Given the description of an element on the screen output the (x, y) to click on. 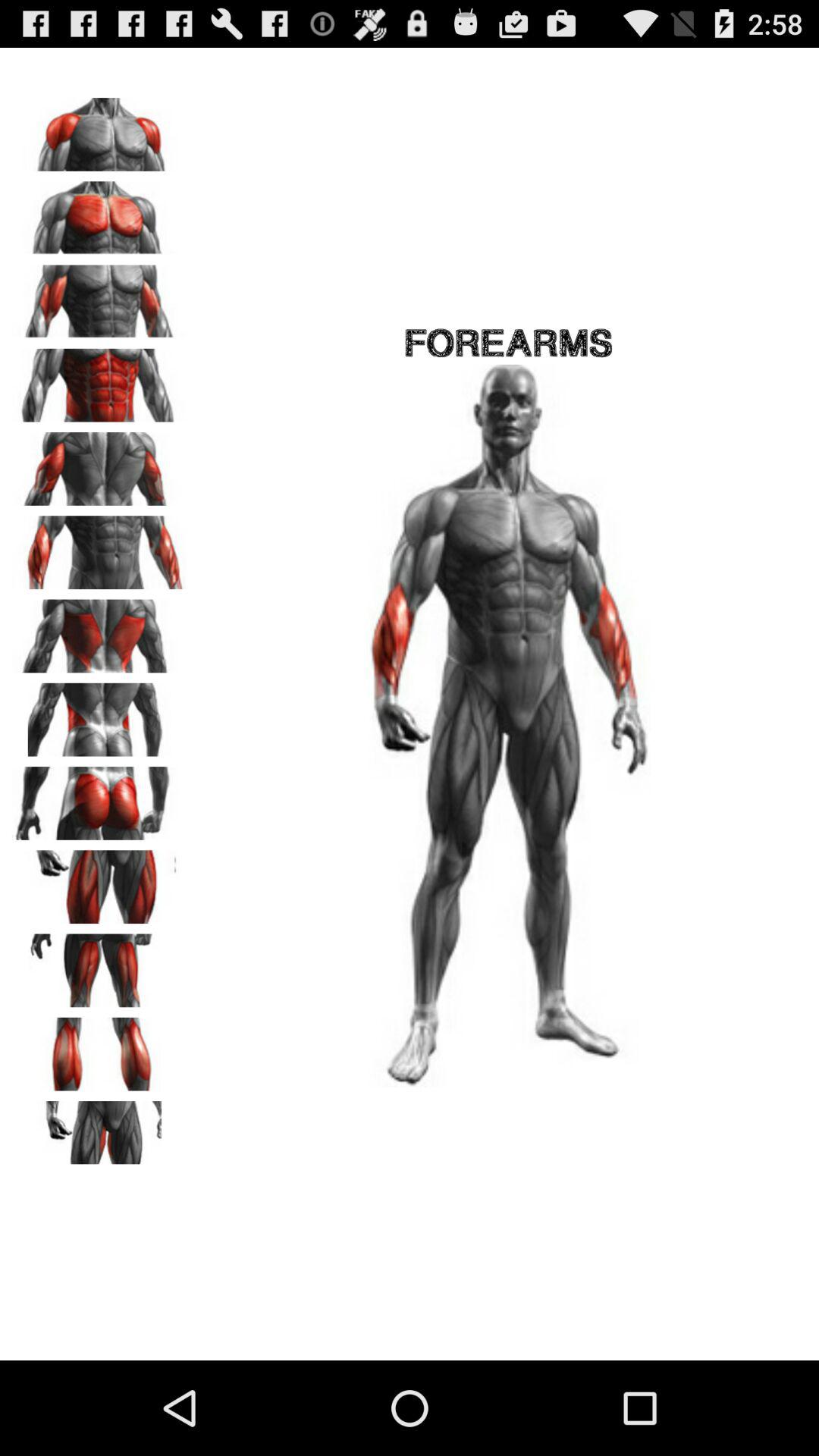
select to train this muscles (99, 798)
